Given the description of an element on the screen output the (x, y) to click on. 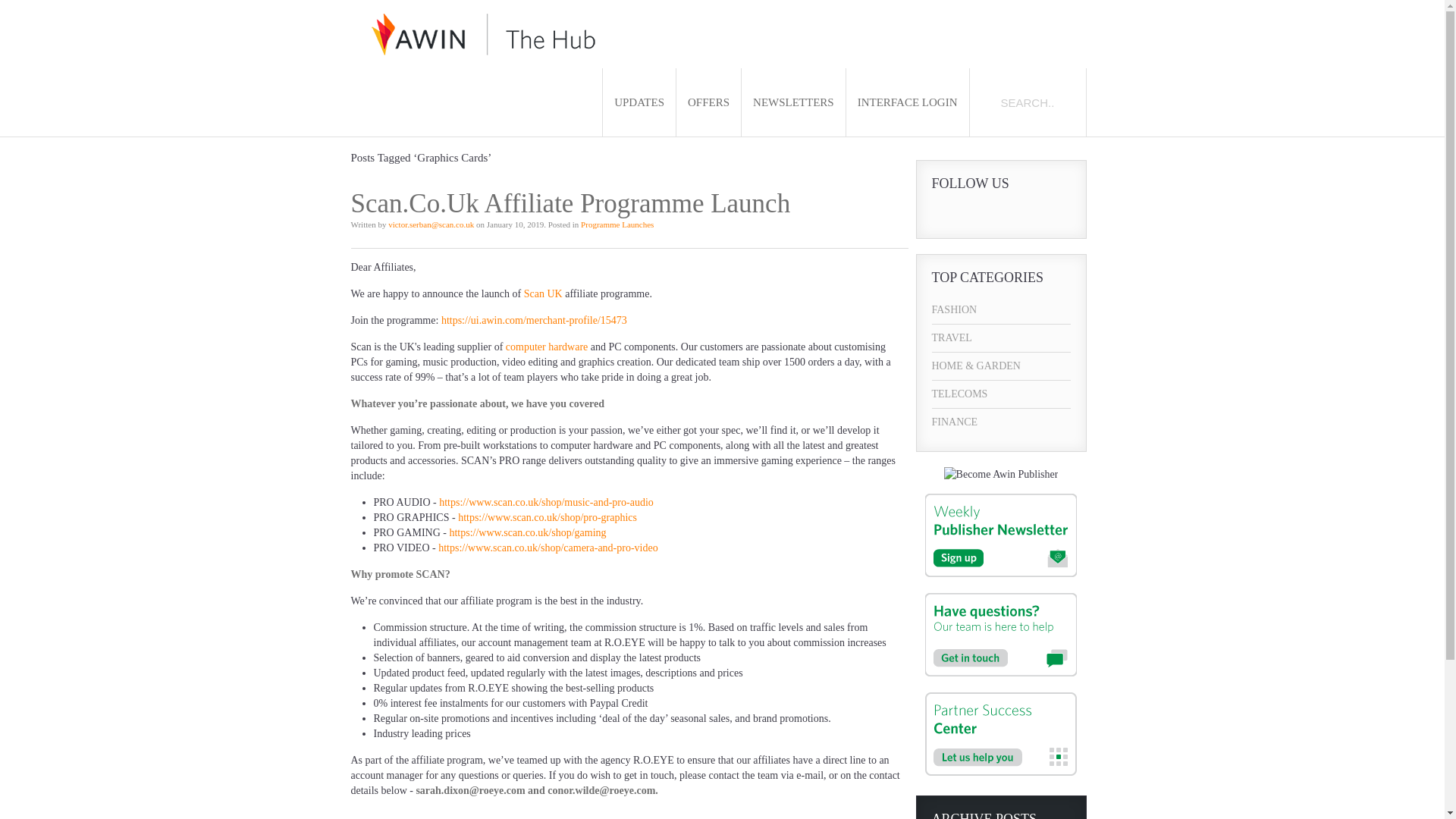
Programme Launches (616, 224)
Interface Login (907, 102)
Scan.Co.Uk Affiliate Programme Launch (570, 203)
UPDATES (639, 102)
INTERFACE LOGIN (907, 102)
FINANCE (1000, 421)
FASHION (1000, 309)
TELECOMS (1000, 393)
Reset (3, 2)
Scan.co.uk Affiliate Programme Launch (570, 203)
Scan UK (543, 293)
TRAVEL (1000, 338)
NEWSLETTERS (793, 102)
OFFERS (708, 102)
computer hardware (546, 346)
